Given the description of an element on the screen output the (x, y) to click on. 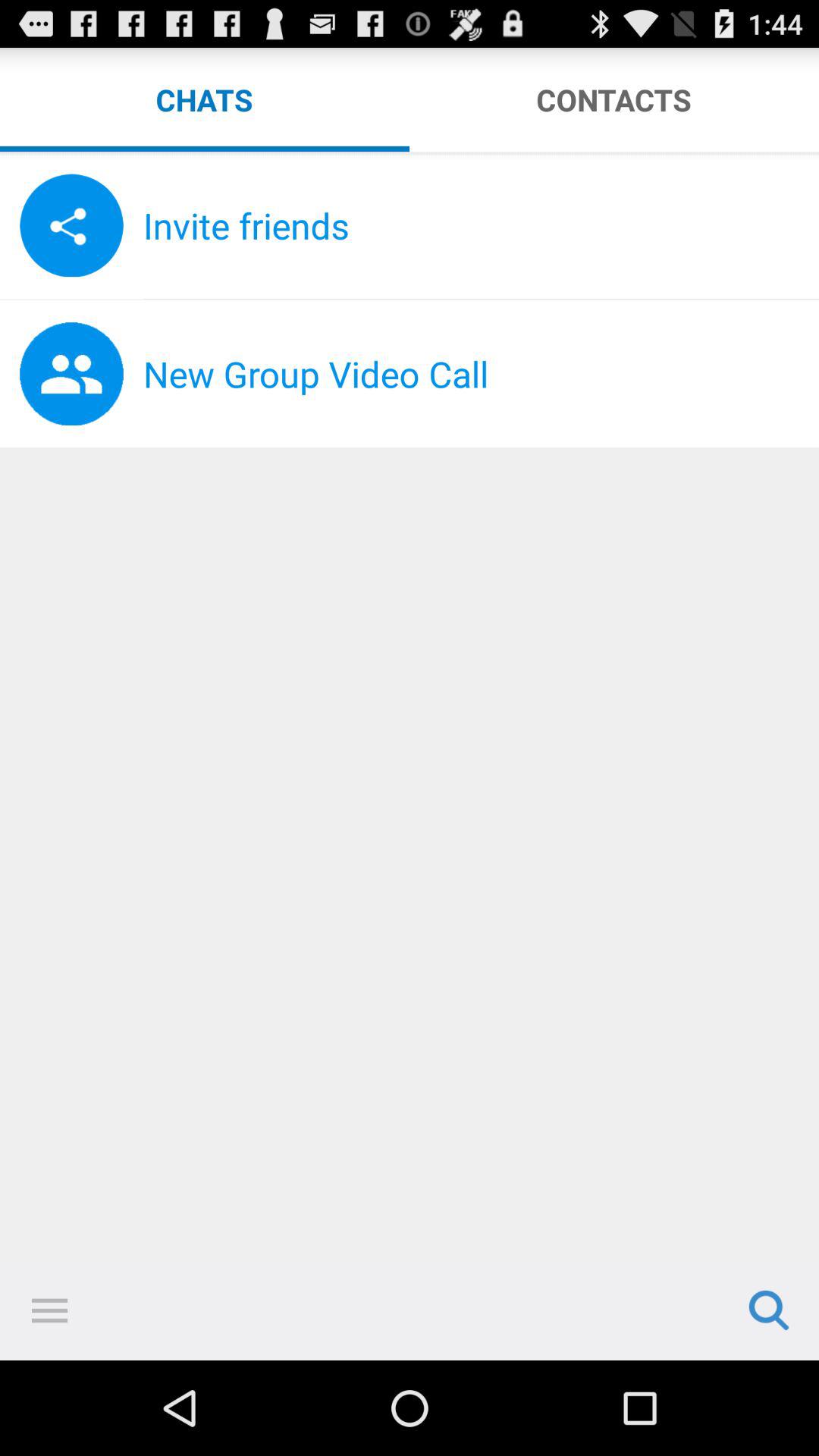
turn off invite friends item (481, 225)
